Given the description of an element on the screen output the (x, y) to click on. 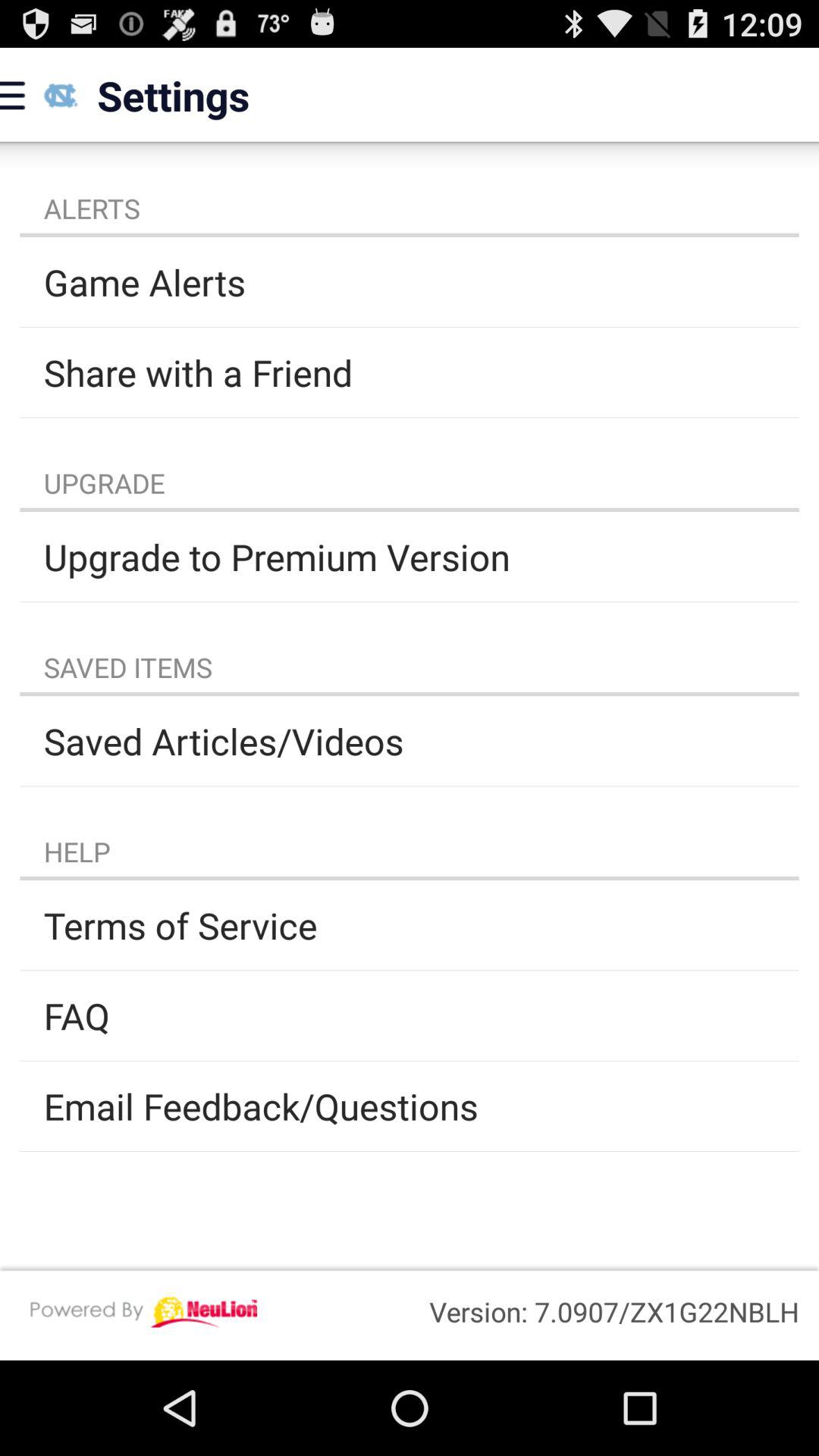
flip to the terms of service item (409, 925)
